Given the description of an element on the screen output the (x, y) to click on. 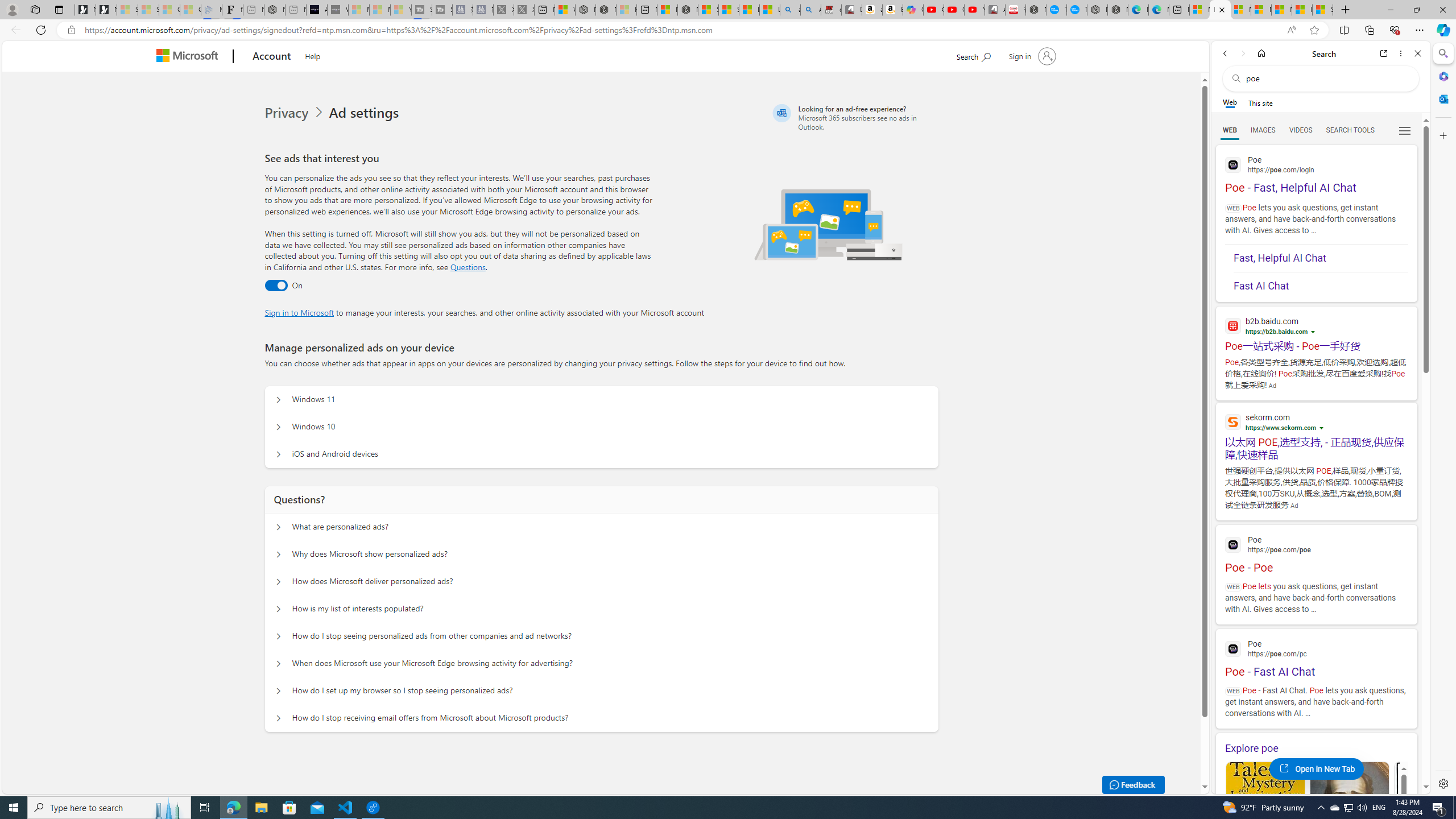
https://www.sekorm.com (1280, 427)
Questions? How is my list of interests populated? (278, 608)
Customize (1442, 135)
Go to Questions section (467, 266)
https://b2b.baidu.com (1275, 331)
Sign in to your account (1031, 55)
Copilot (913, 9)
Fast, Helpful AI Chat (1320, 258)
Open link in new tab (1383, 53)
Learn how your ads are chosen (1322, 429)
Questions? What are personalized ads? (278, 526)
